Given the description of an element on the screen output the (x, y) to click on. 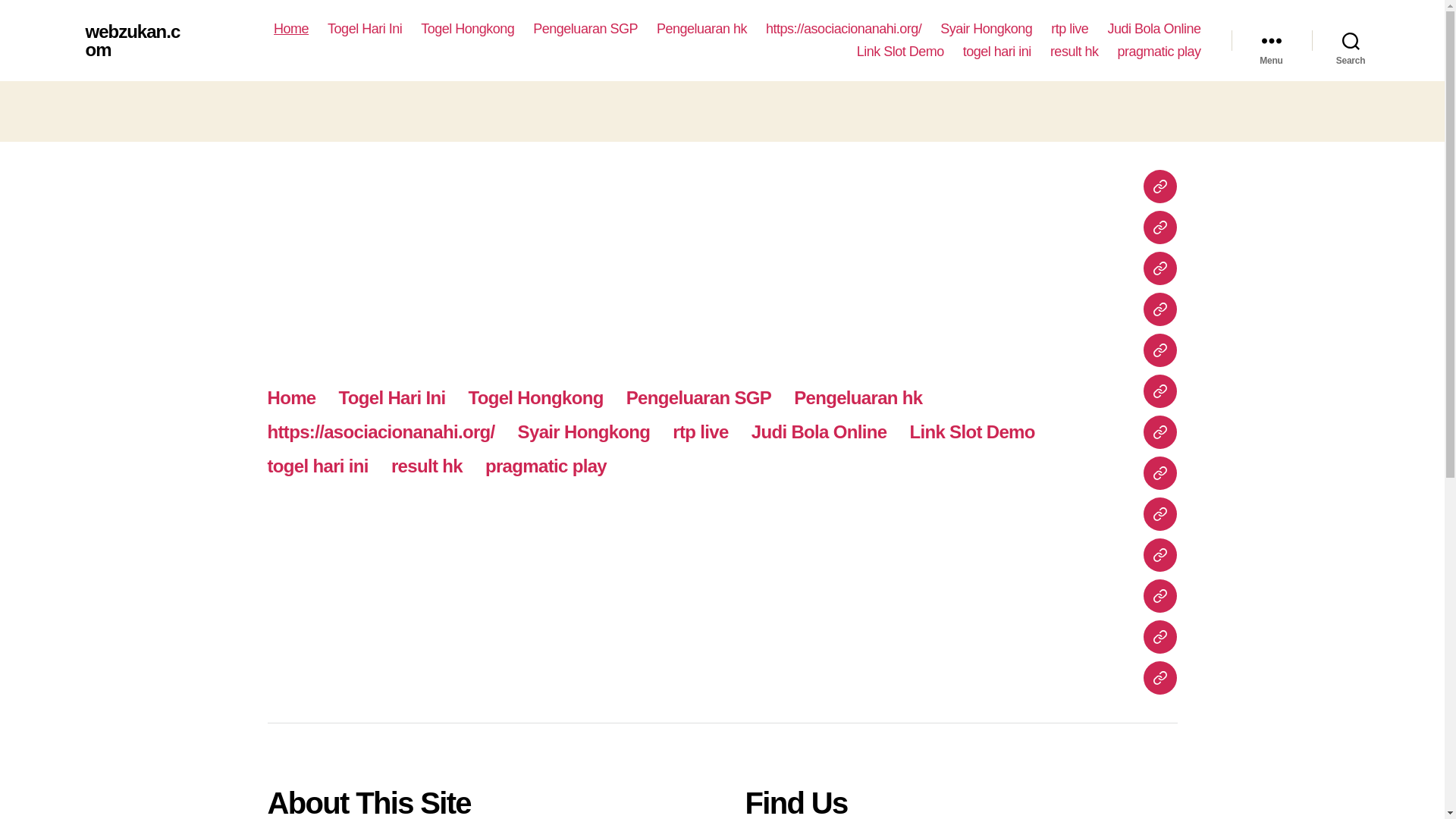
Pengeluaran hk (701, 29)
rtp live (1069, 29)
Search (1350, 40)
pragmatic play (1157, 52)
Togel Hongkong (466, 29)
Link Slot Demo (900, 52)
Menu (1271, 40)
Syair Hongkong (986, 29)
webzukan.com (132, 40)
result hk (1074, 52)
Judi Bola Online (1152, 29)
Togel Hari Ini (364, 29)
Home (290, 29)
togel hari ini (996, 52)
Pengeluaran SGP (584, 29)
